Given the description of an element on the screen output the (x, y) to click on. 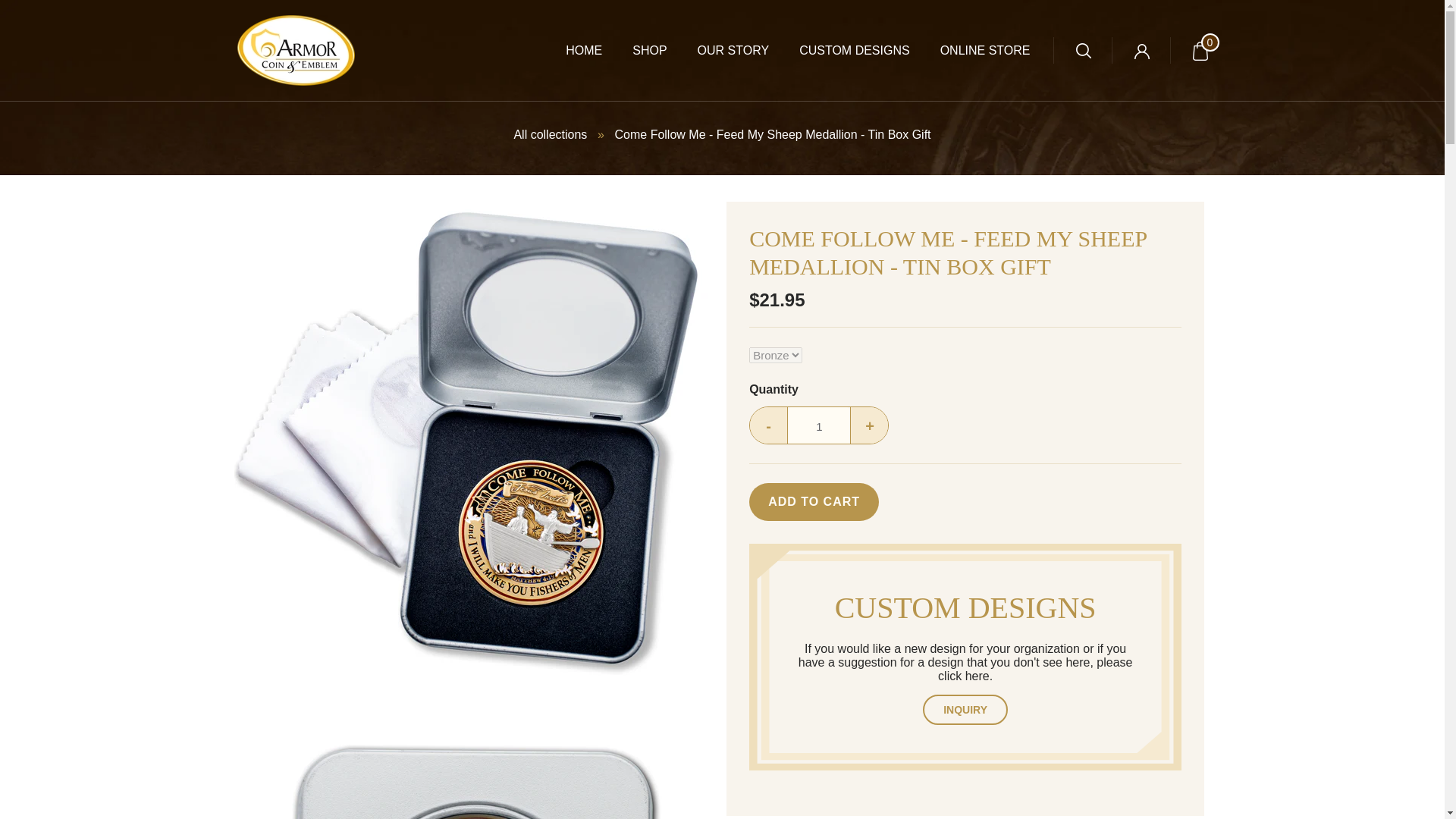
HOME (568, 50)
INQUIRY (965, 709)
0 (1199, 50)
- (768, 426)
ONLINE STORE (970, 50)
CUSTOM DESIGNS (839, 50)
INQUIRY (965, 709)
SHOP (634, 50)
OUR STORY (718, 50)
ADD TO CART (814, 501)
1 (818, 426)
All collections (549, 133)
